Given the description of an element on the screen output the (x, y) to click on. 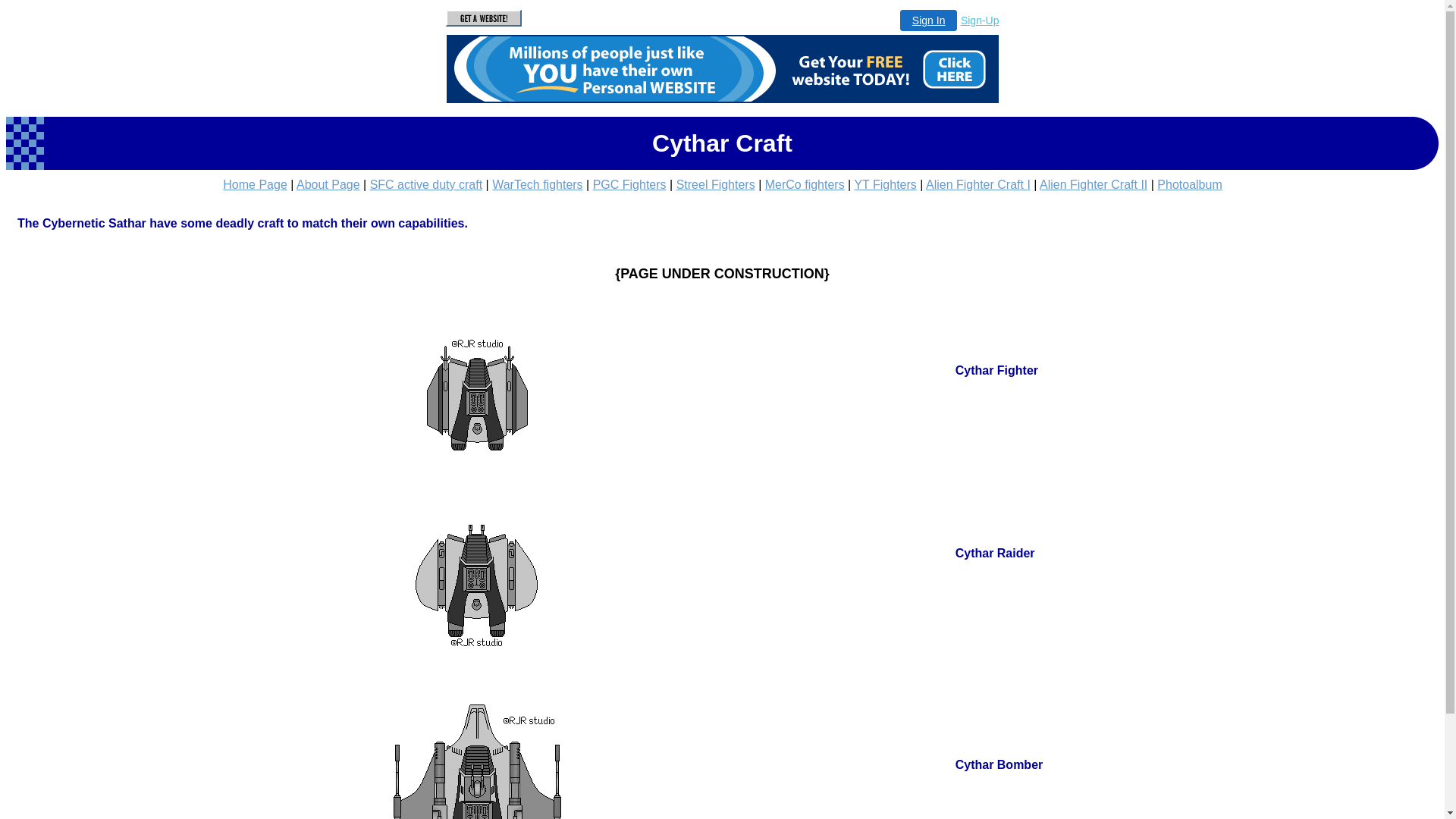
Alien Fighter Craft I Element type: text (977, 184)
Streel Fighters Element type: text (715, 184)
Photoalbum Element type: text (1189, 184)
MerCo fighters Element type: text (804, 184)
WarTech fighters Element type: text (537, 184)
About Page Element type: text (328, 184)
SFC active duty craft Element type: text (426, 184)
YT Fighters Element type: text (884, 184)
Alien Fighter Craft II Element type: text (1093, 184)
PGC Fighters Element type: text (629, 184)
Home Page Element type: text (254, 184)
Sign In Element type: text (928, 20)
Sign-Up Element type: text (979, 20)
